Given the description of an element on the screen output the (x, y) to click on. 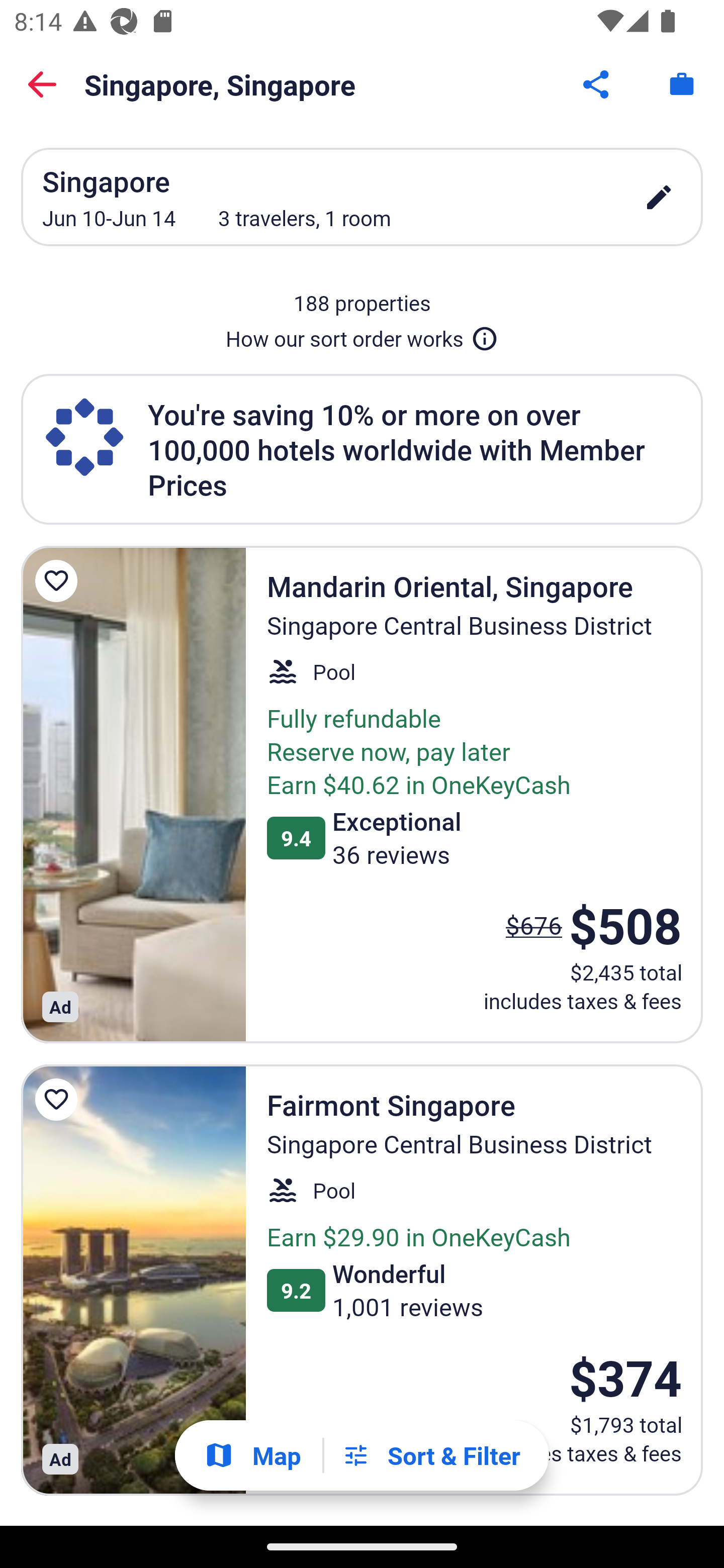
Back (42, 84)
Share Button (597, 84)
Trips. Button (681, 84)
Singapore Jun 10-Jun 14 3 travelers, 1 room edit (361, 196)
How our sort order works (361, 334)
Save Fairmont Singapore to a trip (59, 1098)
Fairmont Singapore (133, 1279)
Filters Sort & Filter Filters Button (430, 1455)
Show map Map Show map Button (252, 1455)
